Given the description of an element on the screen output the (x, y) to click on. 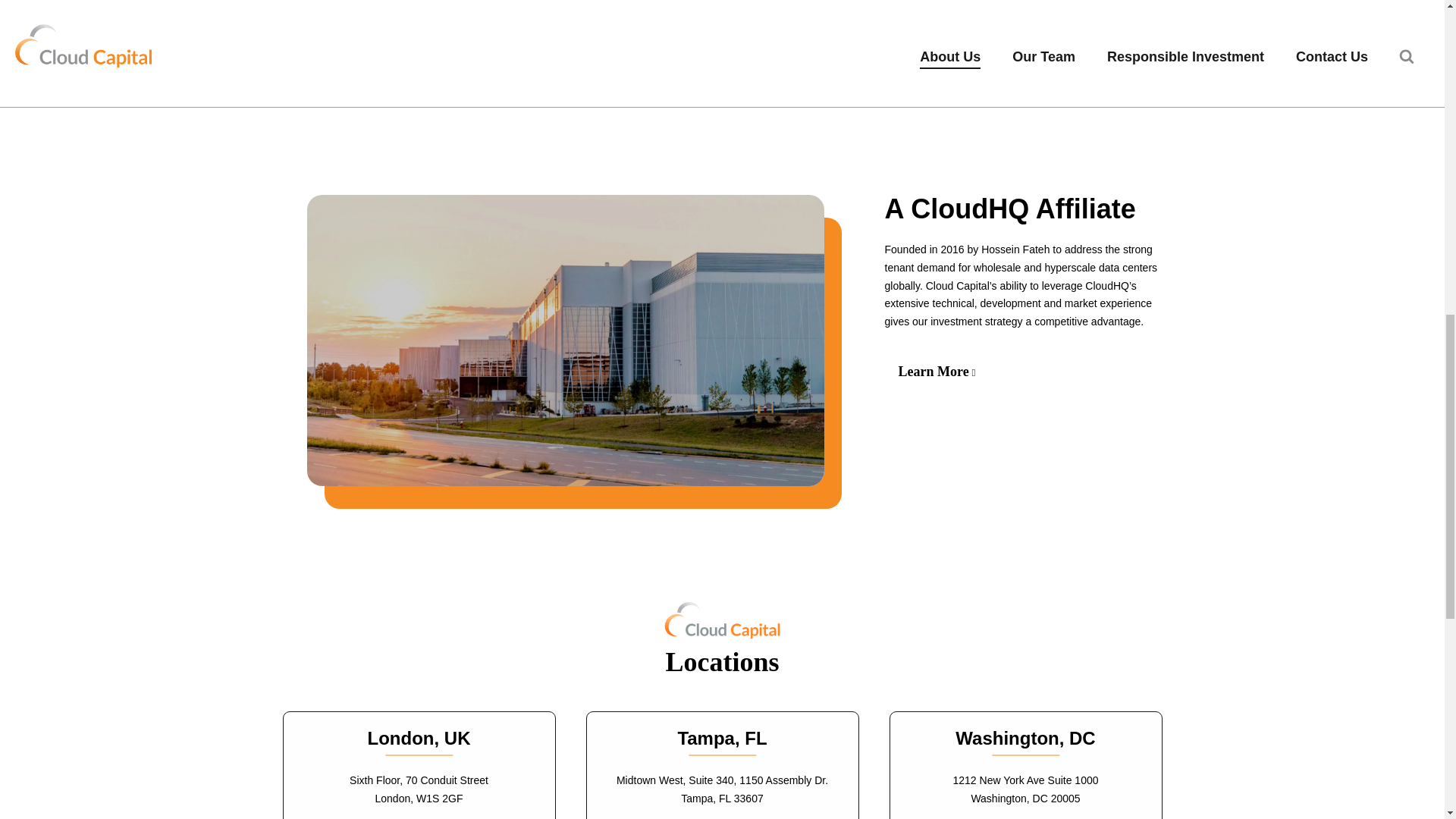
Learn More (935, 371)
